Given the description of an element on the screen output the (x, y) to click on. 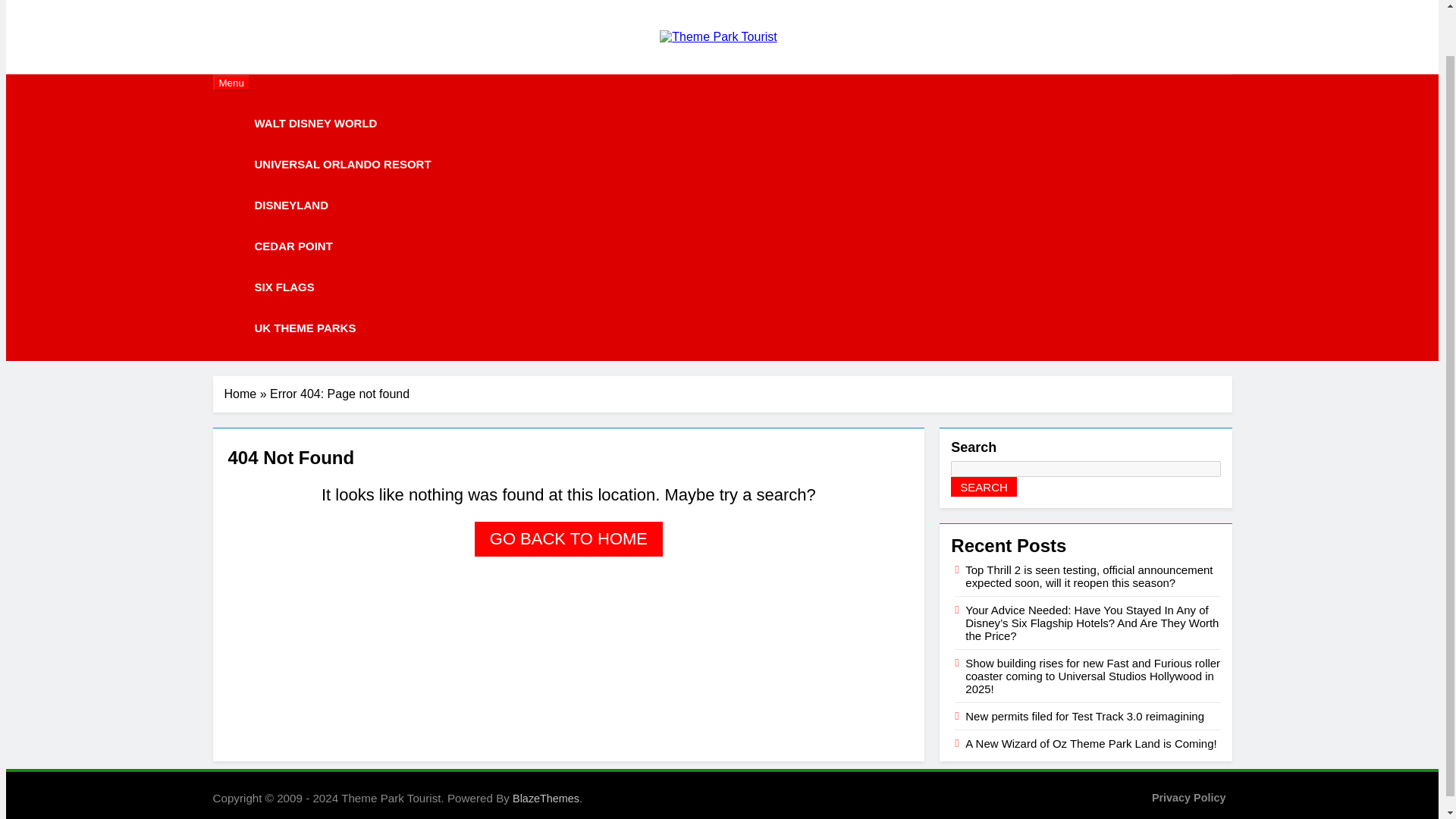
UK THEME PARKS (304, 327)
Menu (230, 82)
UNIVERSAL ORLANDO RESORT (342, 164)
DISNEYLAND (291, 205)
Theme Park Tourist (615, 60)
GO BACK TO HOME (568, 538)
Home (240, 393)
WALT DISNEY WORLD (315, 123)
SIX FLAGS (283, 286)
New permits filed for Test Track 3.0 reimagining (1084, 716)
Privacy Policy (1188, 797)
BlazeThemes (545, 798)
CEDAR POINT (293, 246)
